Given the description of an element on the screen output the (x, y) to click on. 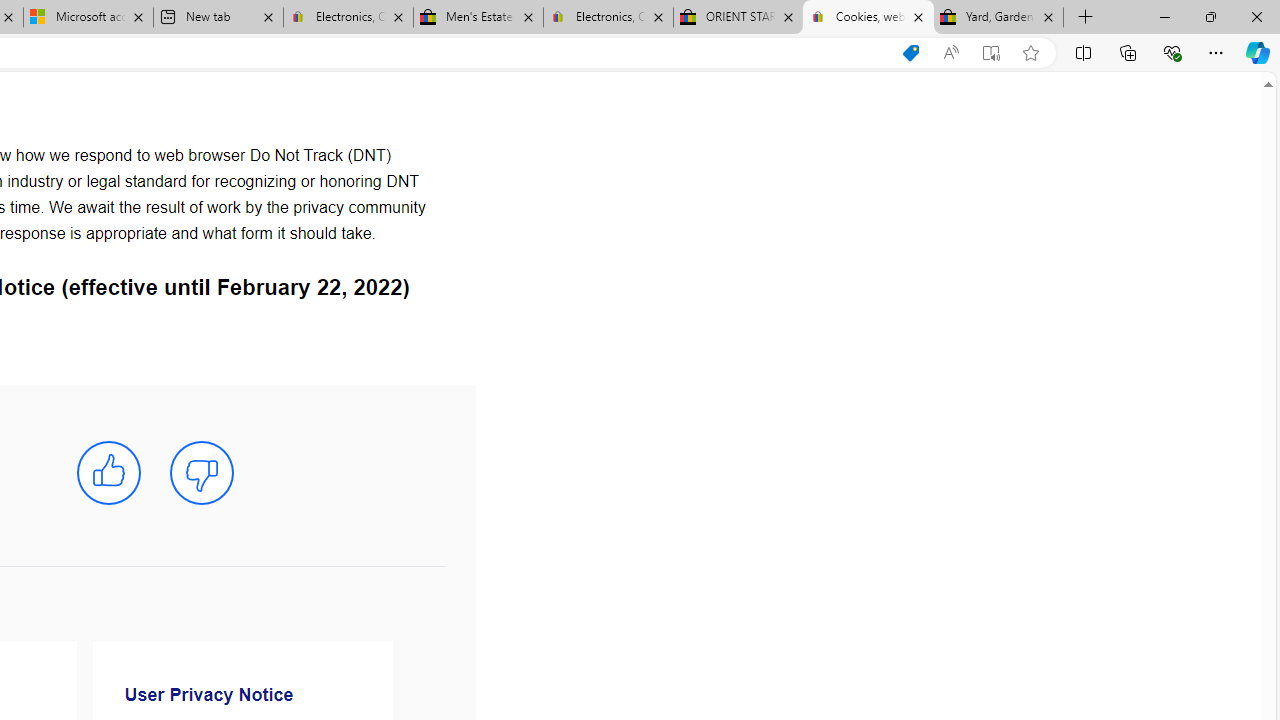
mark this article not helpful (201, 473)
